Given the description of an element on the screen output the (x, y) to click on. 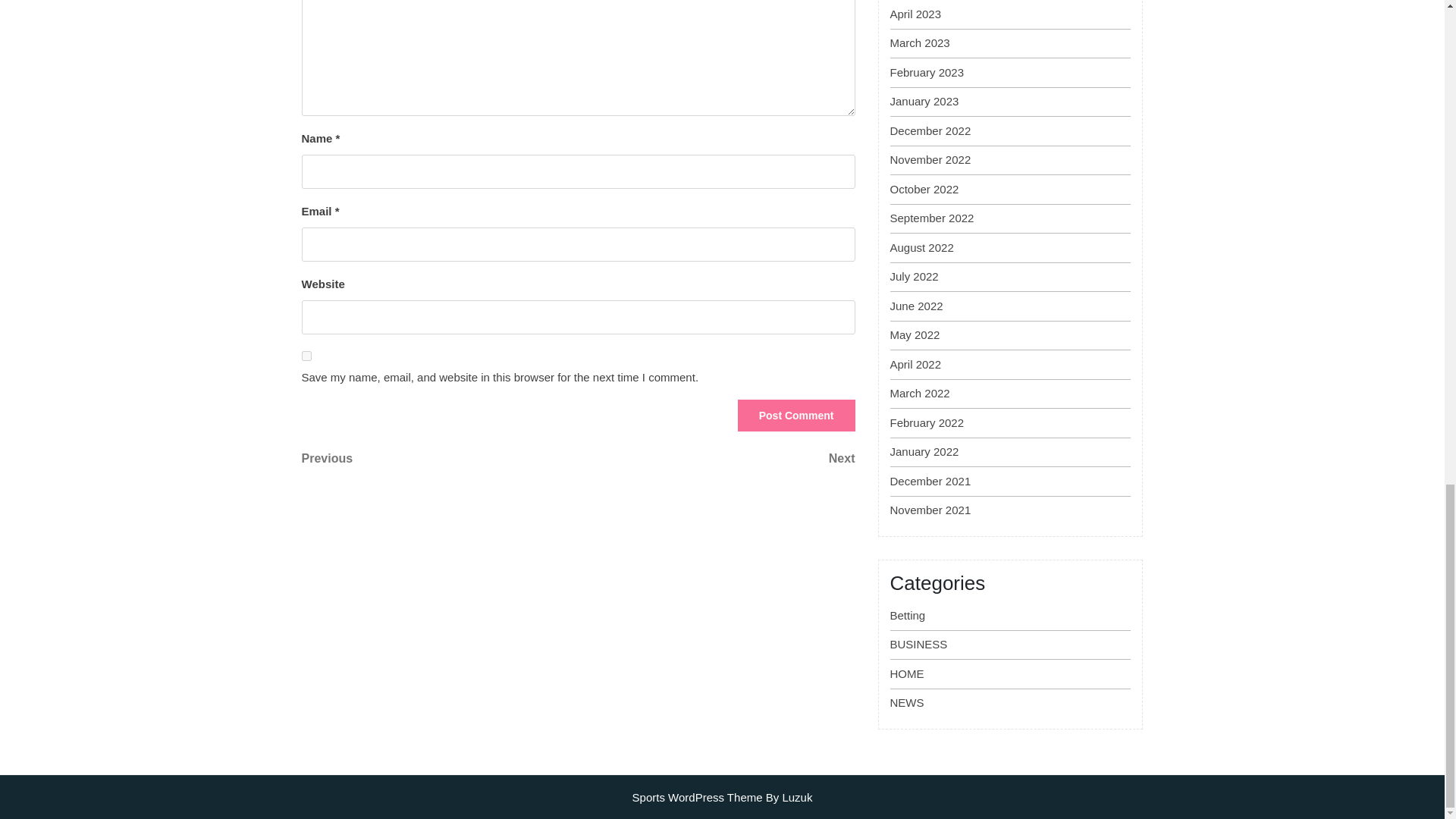
Post Comment (797, 415)
yes (439, 458)
Post Comment (306, 356)
